Given the description of an element on the screen output the (x, y) to click on. 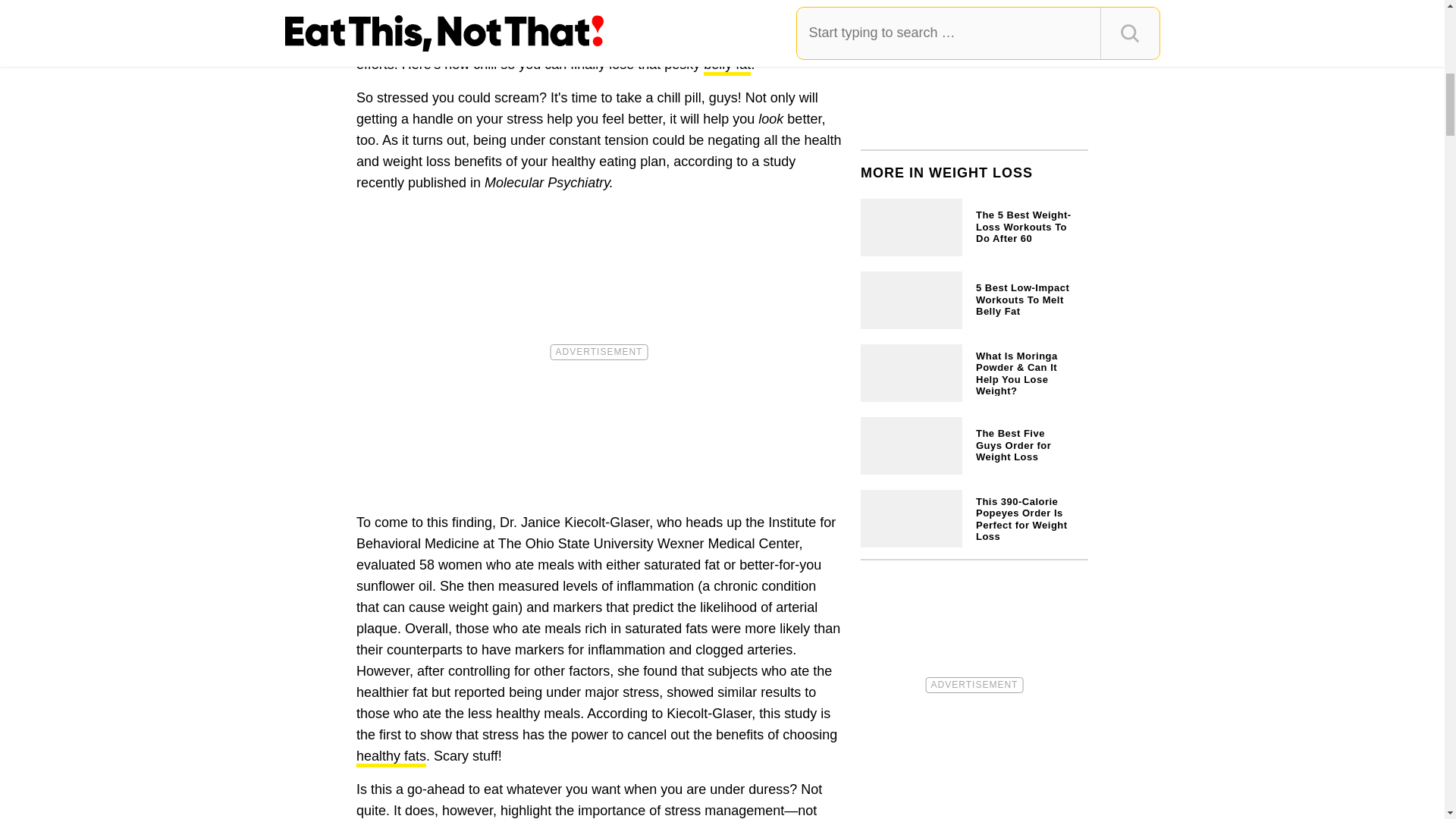
Over 60? Here Are the 5 Best Weight-Loss Workouts You Can Do (973, 224)
